Given the description of an element on the screen output the (x, y) to click on. 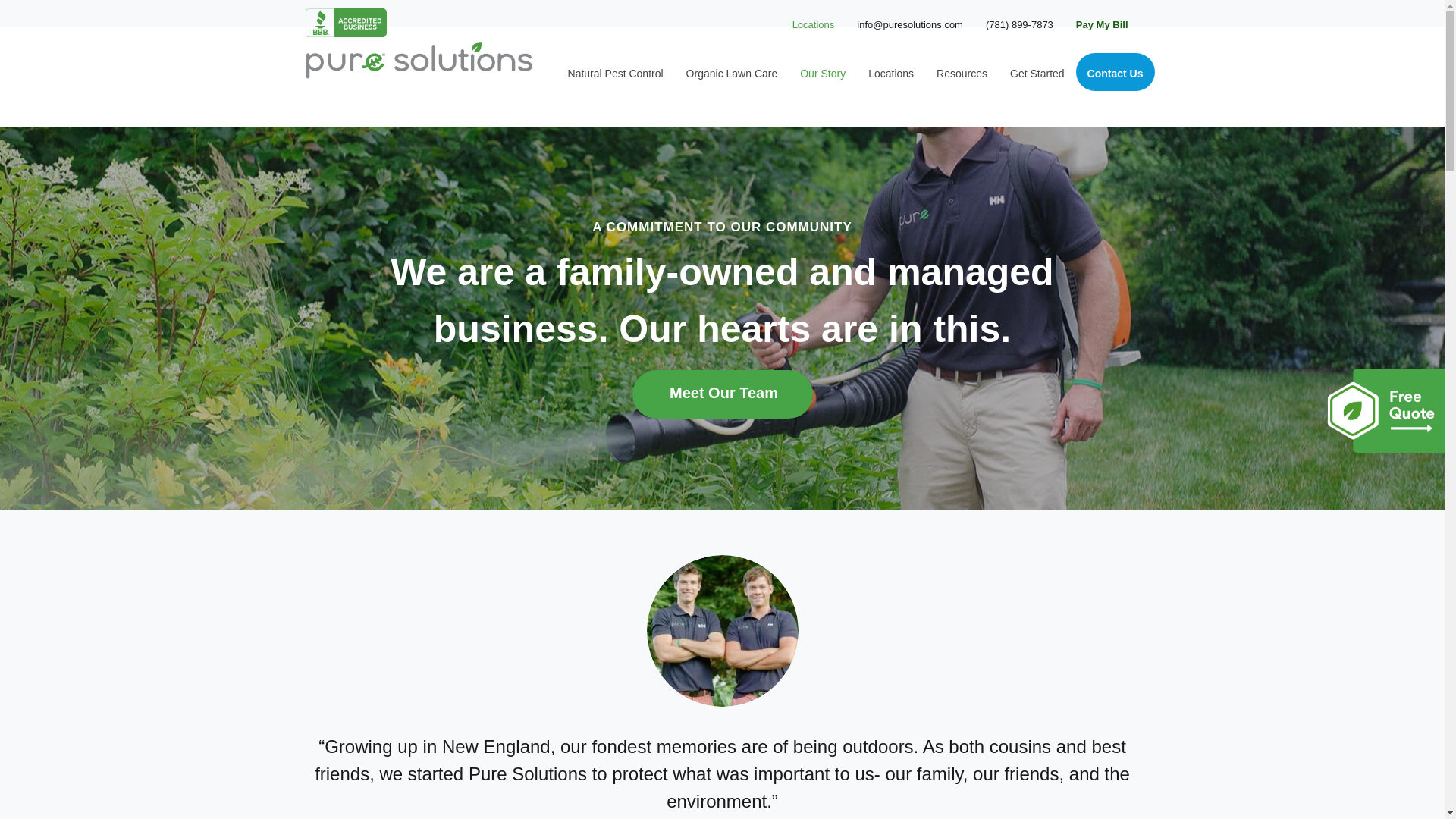
Our Story (823, 71)
Natural Pest Control (615, 71)
Pay My Bill (1101, 24)
puresolutions-cofounders-new (721, 630)
Organic Lawn Care (732, 71)
Natural Pest Control (615, 71)
Meet Our Team (721, 394)
Our Story (823, 71)
Locations (811, 24)
Get Started (1036, 71)
Resources (961, 71)
Locations (890, 71)
Resources (961, 71)
Organic Lawn Care (732, 71)
Contact Us (1114, 71)
